Given the description of an element on the screen output the (x, y) to click on. 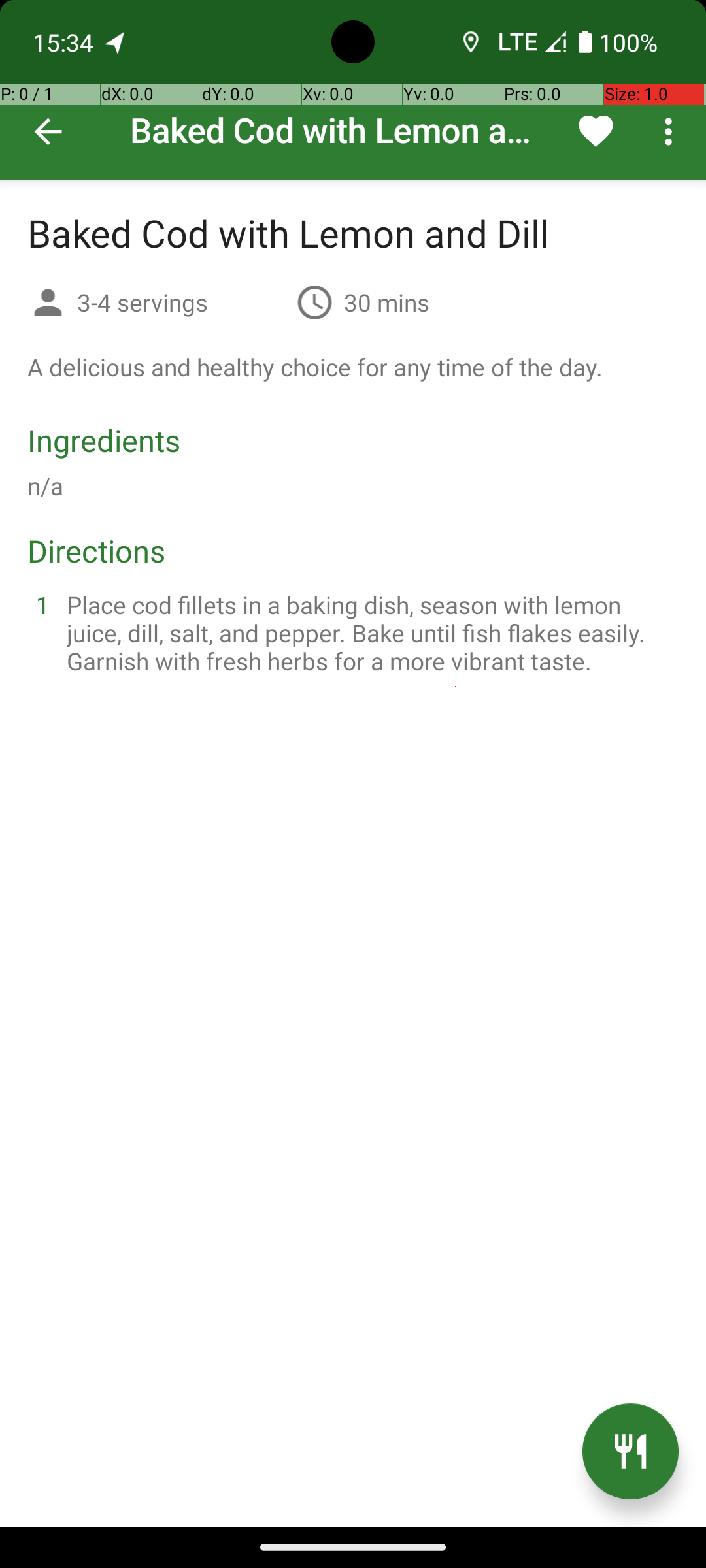
Place cod fillets in a baking dish, season with lemon juice, dill, salt, and pepper. Bake until fish flakes easily. Garnish with fresh herbs for a more vibrant taste. Element type: android.widget.TextView (368, 632)
